Given the description of an element on the screen output the (x, y) to click on. 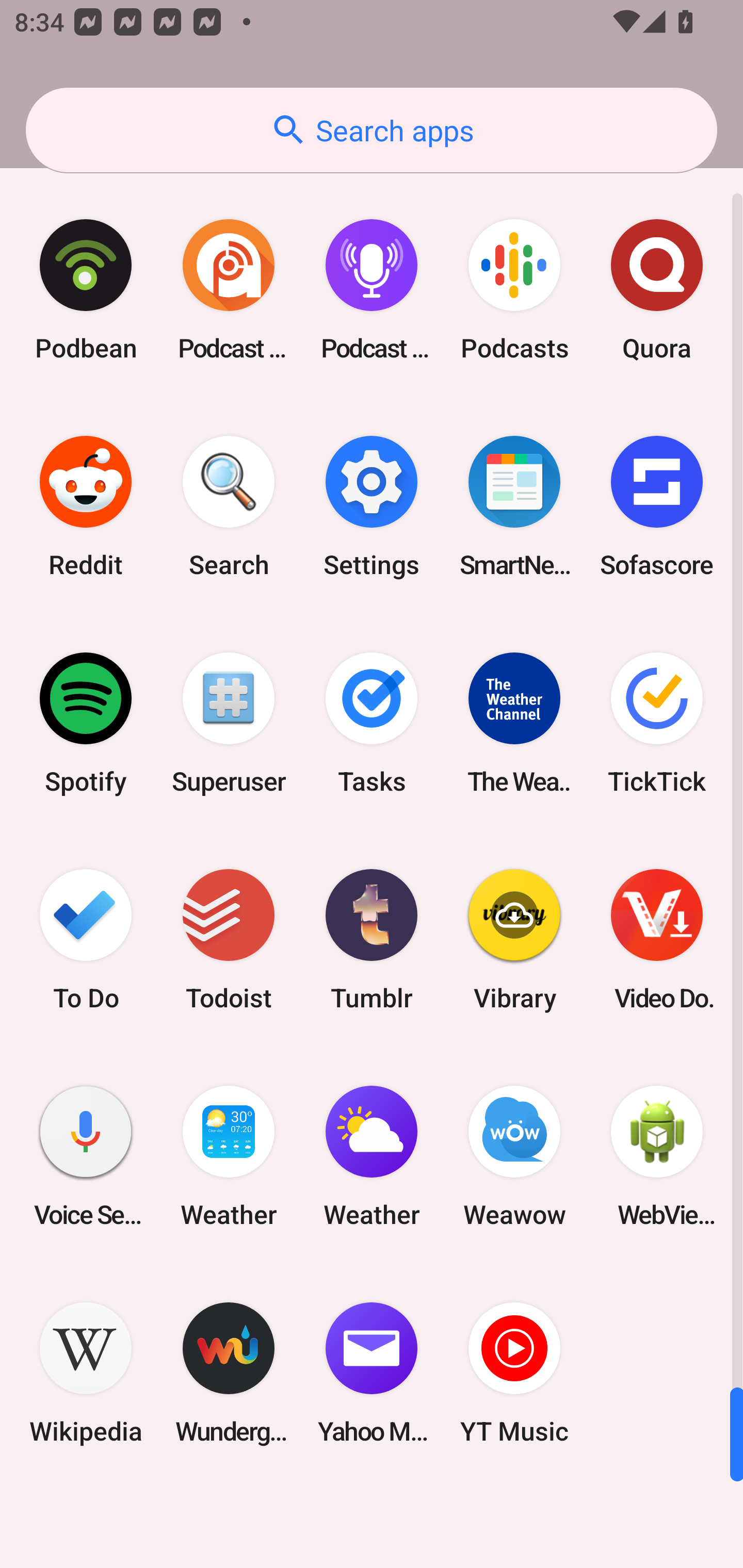
  Search apps (371, 130)
Podbean (85, 289)
Podcast Addict (228, 289)
Podcast Player (371, 289)
Podcasts (514, 289)
Quora (656, 289)
Reddit (85, 506)
Search (228, 506)
Settings (371, 506)
SmartNews (514, 506)
Sofascore (656, 506)
Spotify (85, 722)
Superuser (228, 722)
Tasks (371, 722)
The Weather Channel (514, 722)
TickTick (656, 722)
To Do (85, 939)
Todoist (228, 939)
Tumblr (371, 939)
Vibrary (514, 939)
Video Downloader & Ace Player (656, 939)
Voice Search (85, 1156)
Weather (228, 1156)
Weather (371, 1156)
Weawow (514, 1156)
WebView Browser Tester (656, 1156)
Wikipedia (85, 1373)
Wunderground (228, 1373)
Yahoo Mail (371, 1373)
YT Music (514, 1373)
